Given the description of an element on the screen output the (x, y) to click on. 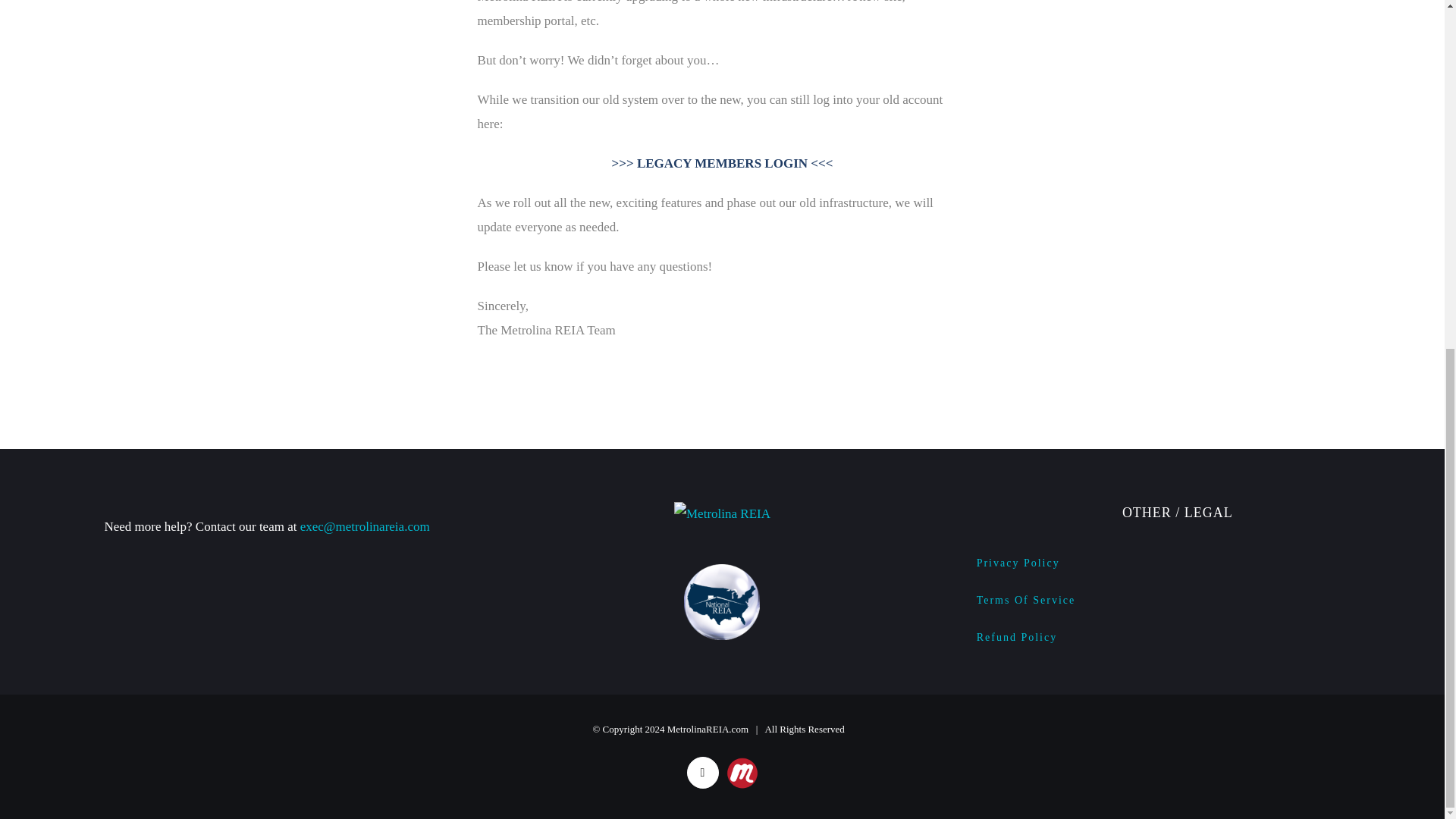
Meetup (742, 761)
Refund Policy (1176, 637)
Terms Of Service (1176, 600)
Privacy Policy (1176, 563)
Meetup (742, 761)
facebook (703, 772)
facebook (703, 772)
